Given the description of an element on the screen output the (x, y) to click on. 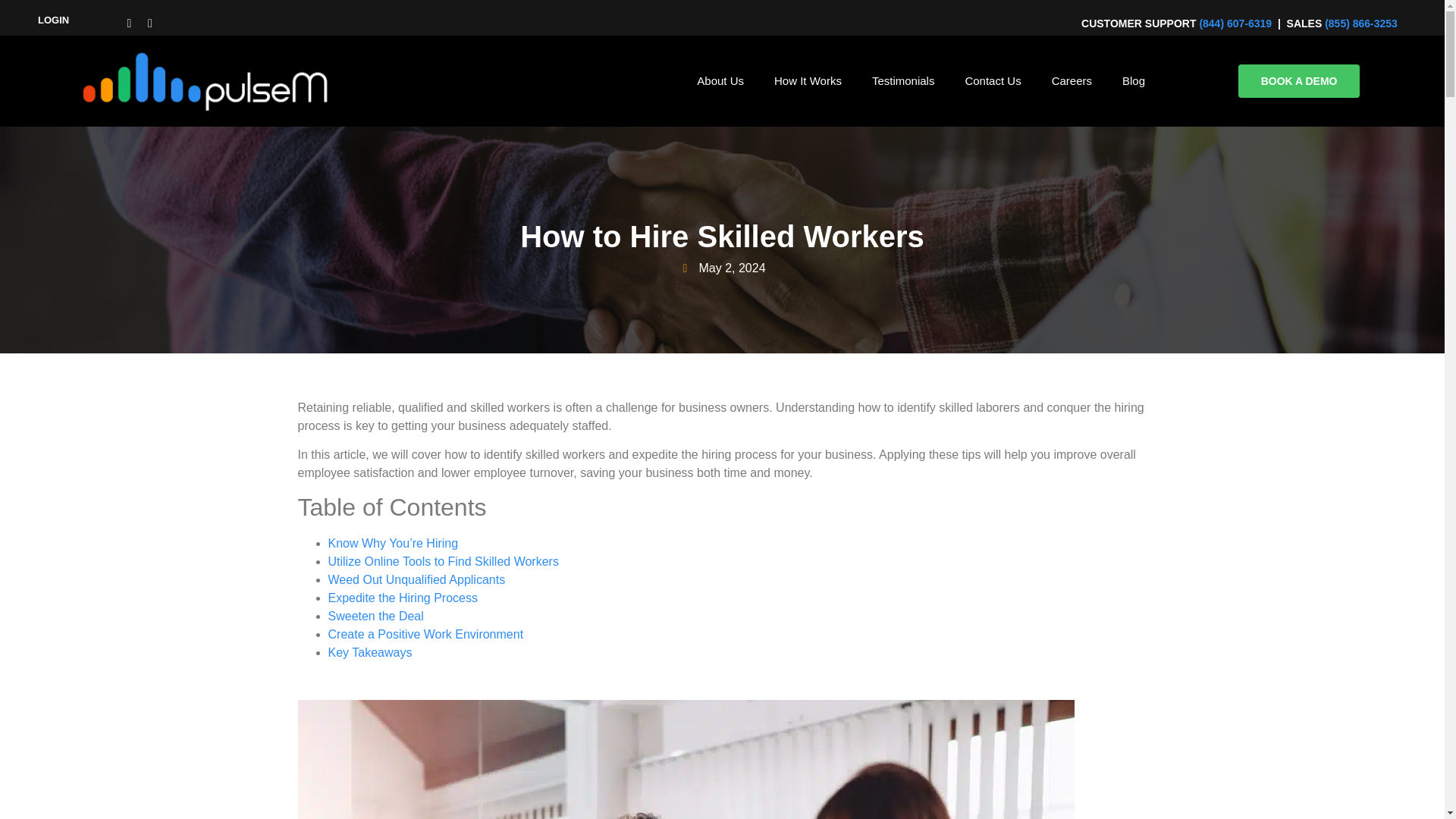
Blog (1133, 80)
Testimonials (902, 80)
Utilize Online Tools to Find Skilled Workers (442, 561)
About Us (720, 80)
Create a Positive Work Environment (424, 634)
Careers (1072, 80)
Sweeten the Deal (375, 615)
Expedite the Hiring Process (402, 597)
Key Takeaways (369, 652)
How It Works (807, 80)
Weed Out Unqualified Applicants (416, 579)
LOGIN (52, 19)
BOOK A DEMO (1299, 80)
Contact Us (992, 80)
